Given the description of an element on the screen output the (x, y) to click on. 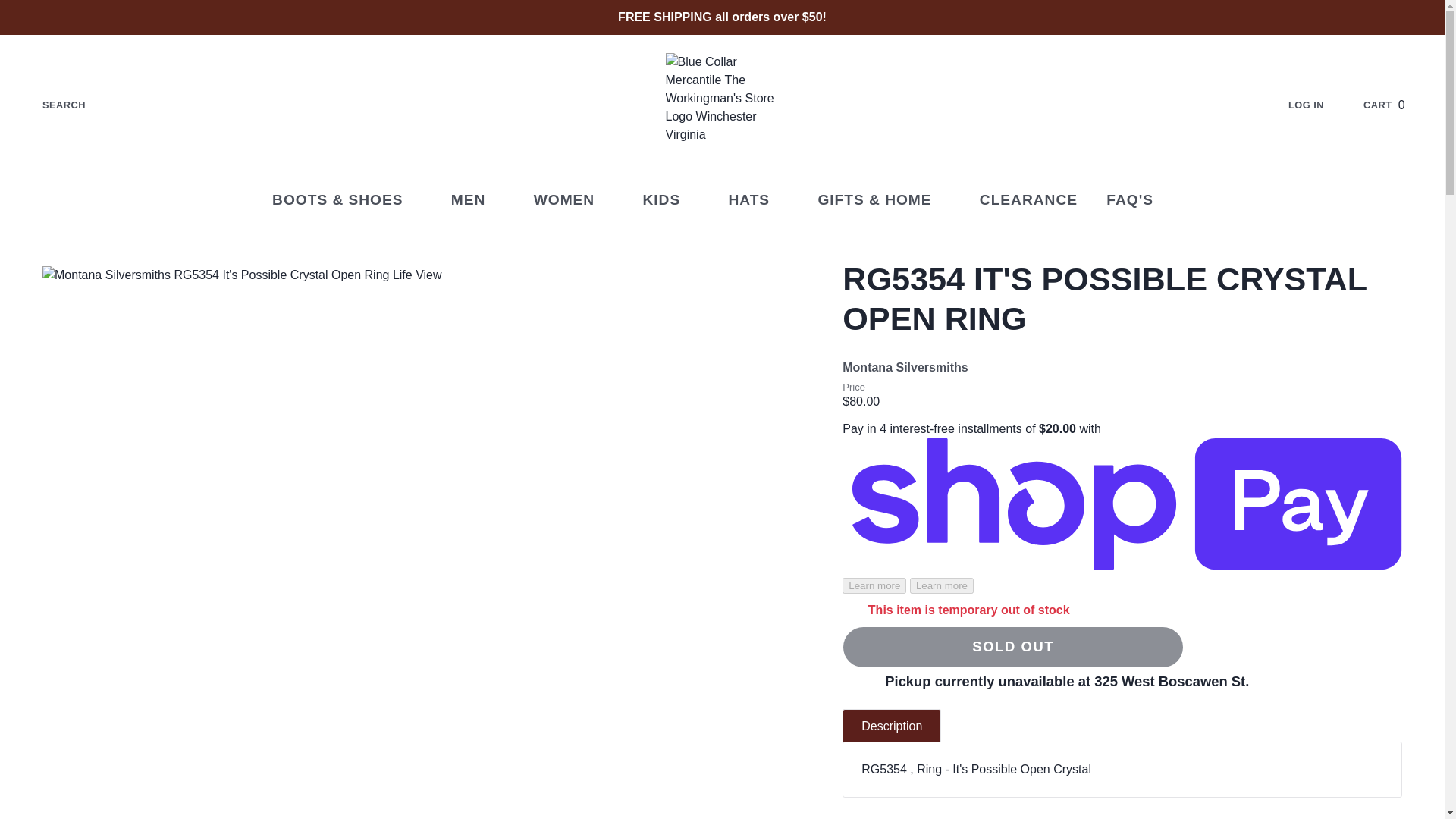
SEARCH (1394, 105)
MEN (51, 105)
LOG IN (477, 200)
